Given the description of an element on the screen output the (x, y) to click on. 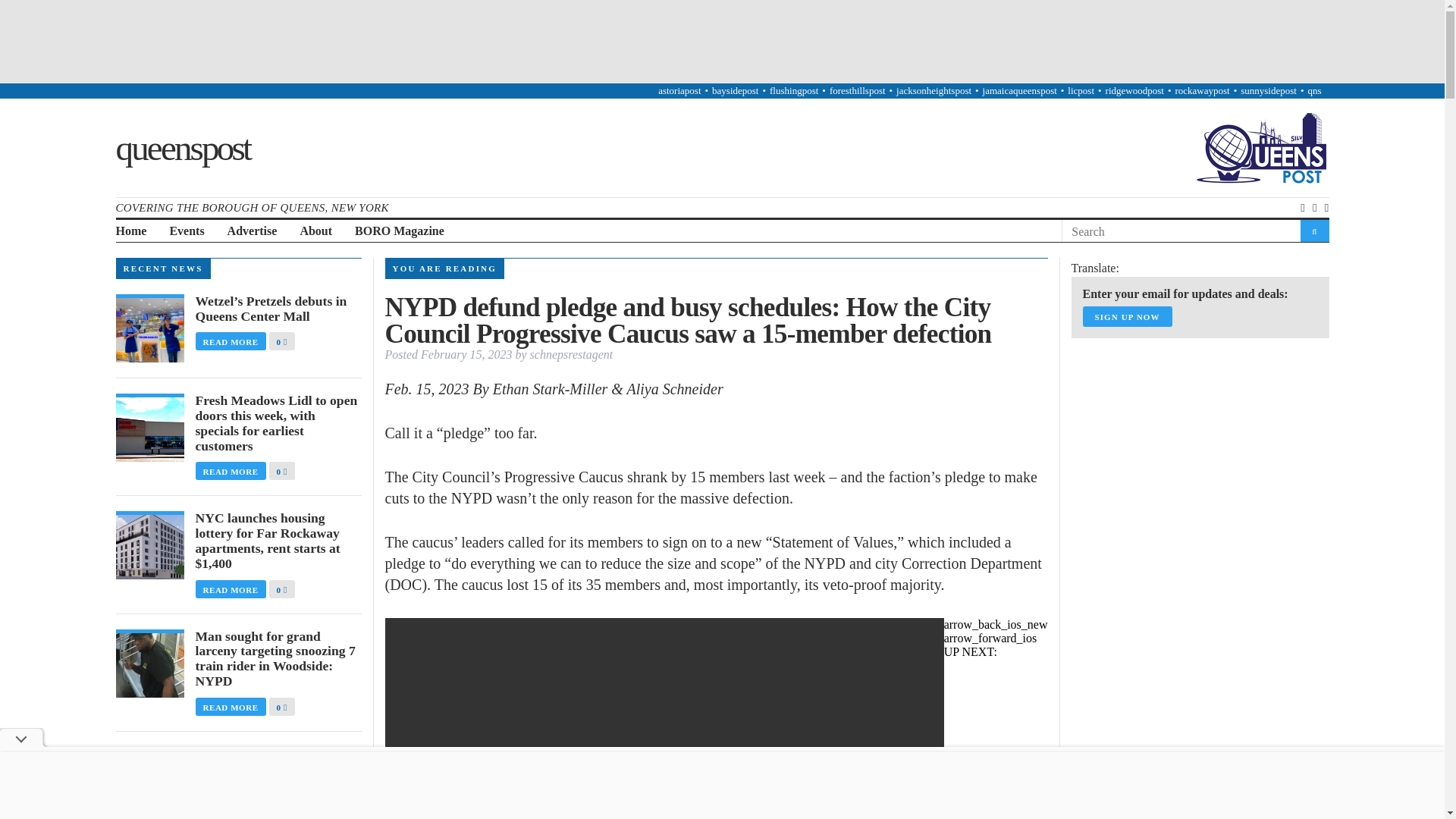
3rd party ad content (1184, 444)
Events (185, 231)
ridgewoodpost (1134, 90)
queenspost (181, 147)
jamaicaqueenspost (1019, 90)
jacksonheightspost (933, 90)
rockawaypost (1201, 90)
About (315, 231)
qns (1313, 90)
licpost (1080, 90)
foresthillspost (857, 90)
3rd party ad content (1184, 647)
3rd party ad content (721, 41)
baysidepost (734, 90)
Advertise (252, 231)
